Given the description of an element on the screen output the (x, y) to click on. 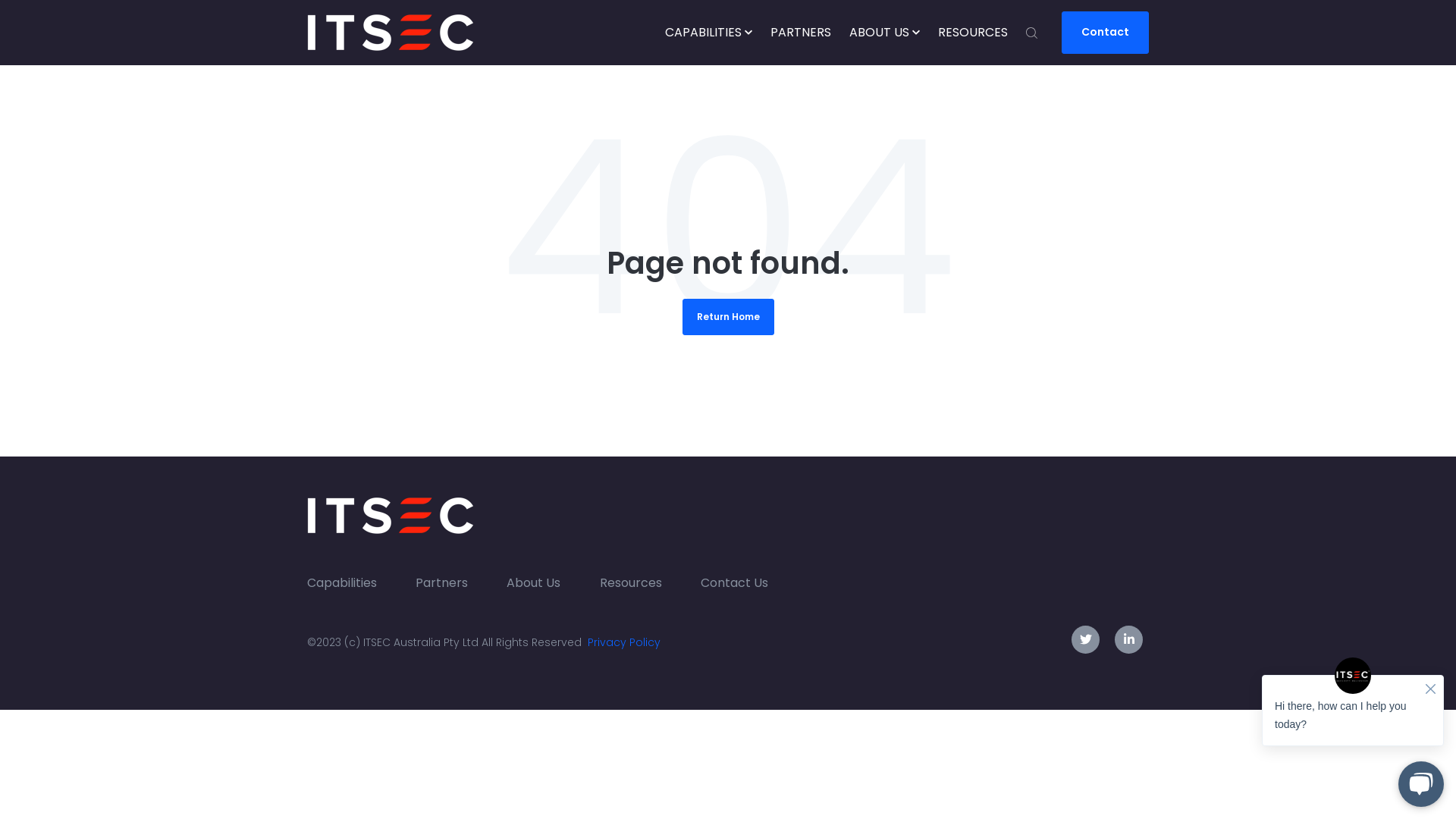
ABOUT US Element type: text (884, 32)
CAPABILITIES Element type: text (708, 32)
Partners Element type: text (450, 583)
Capabilities Element type: text (351, 583)
RESOURCES Element type: text (972, 32)
Privacy Policy Element type: text (623, 641)
PARTNERS Element type: text (800, 32)
About Us Element type: text (542, 583)
Contact Us Element type: text (743, 583)
Contact Element type: text (1104, 32)
Resources Element type: text (639, 583)
Return Home Element type: text (728, 316)
